Given the description of an element on the screen output the (x, y) to click on. 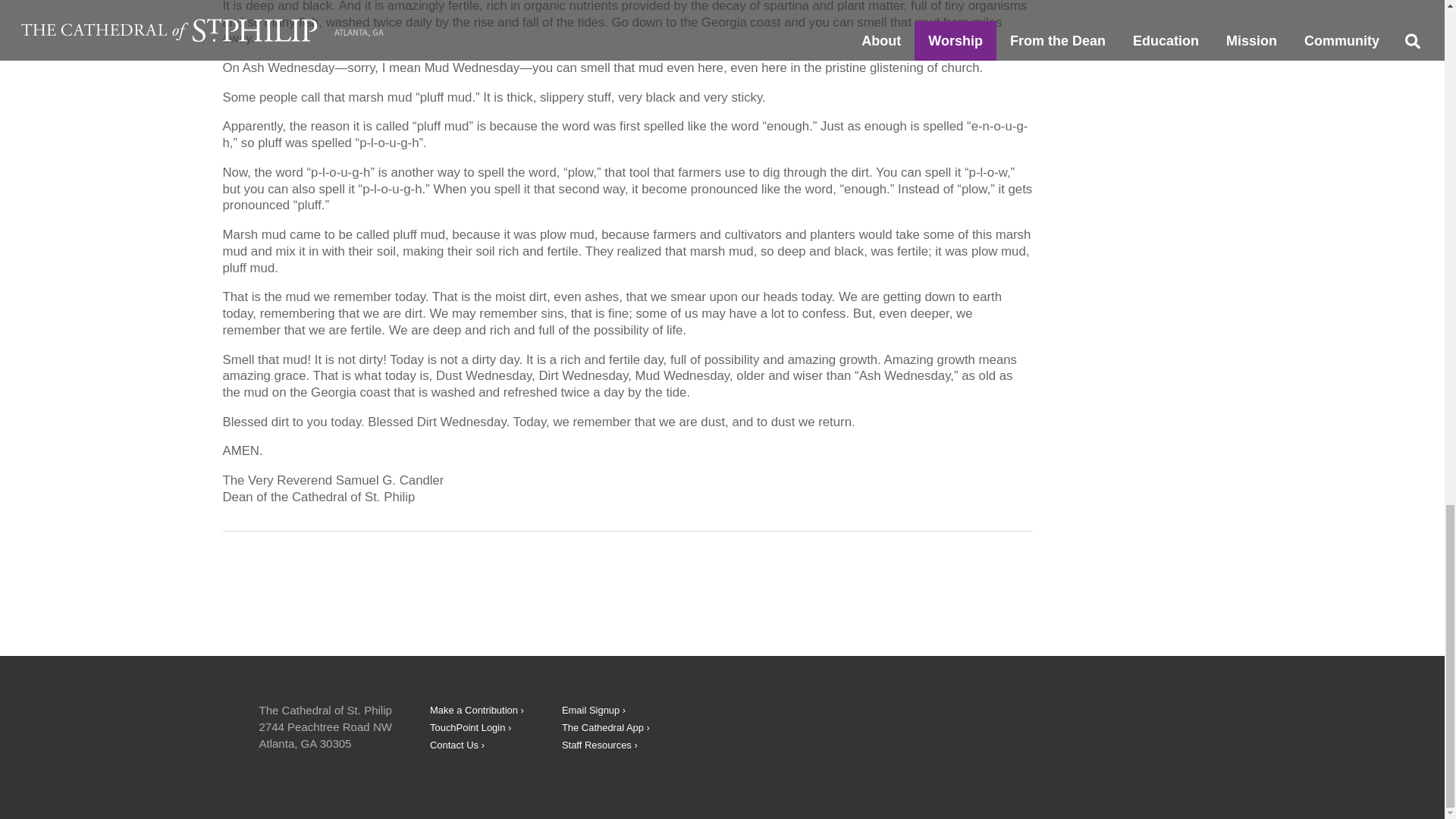
Follow us on Instagram (1123, 724)
Find us on Facebook (1009, 724)
Watch us on Youtube (1066, 724)
